Given the description of an element on the screen output the (x, y) to click on. 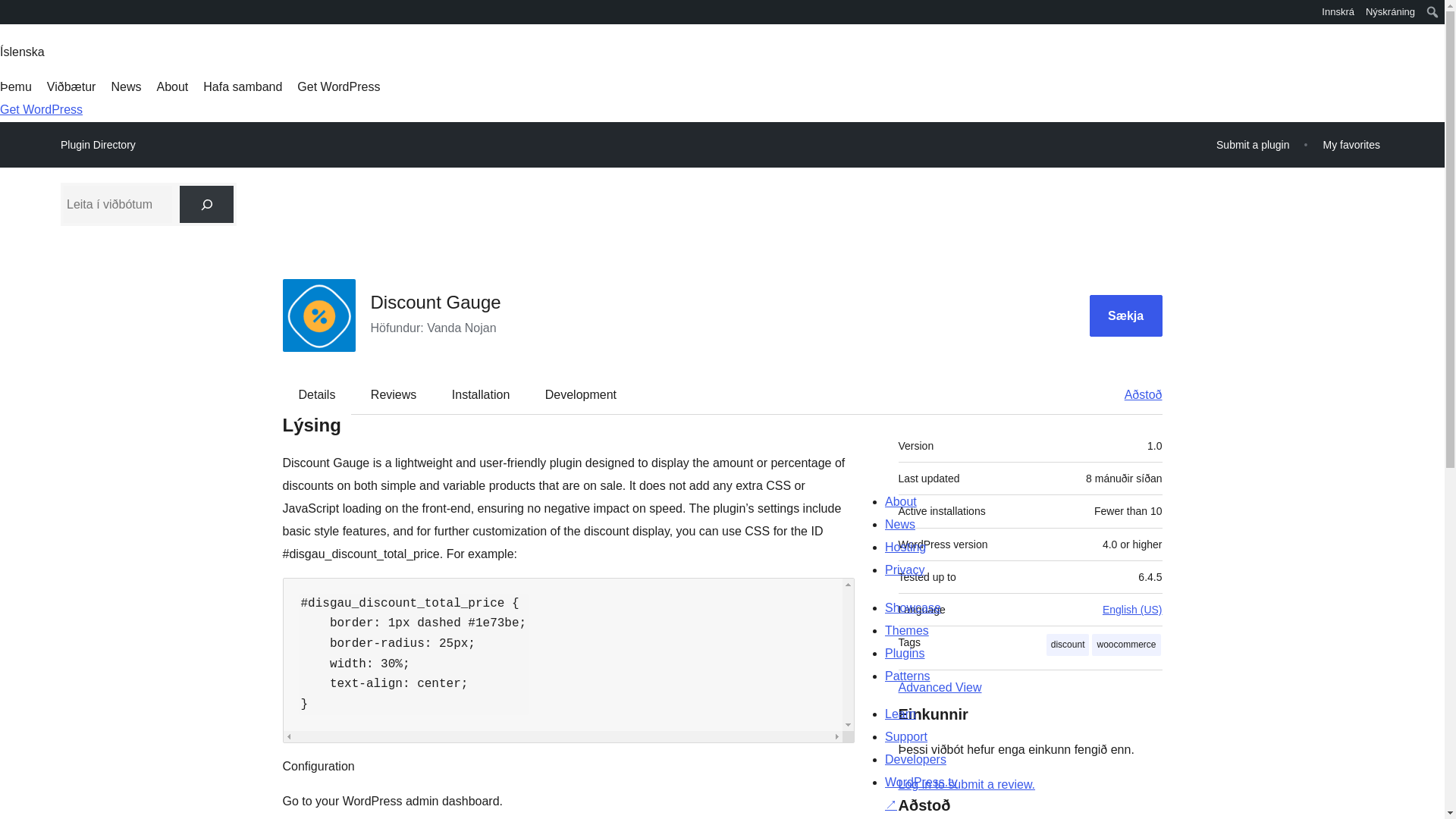
WordPress.org (10, 16)
Development (580, 394)
WordPress.org (10, 10)
Plugin Directory (97, 144)
Log in to WordPress.org (966, 784)
Installation (480, 394)
About (171, 87)
Submit a plugin (1253, 144)
Details (316, 394)
Get WordPress (41, 109)
